Given the description of an element on the screen output the (x, y) to click on. 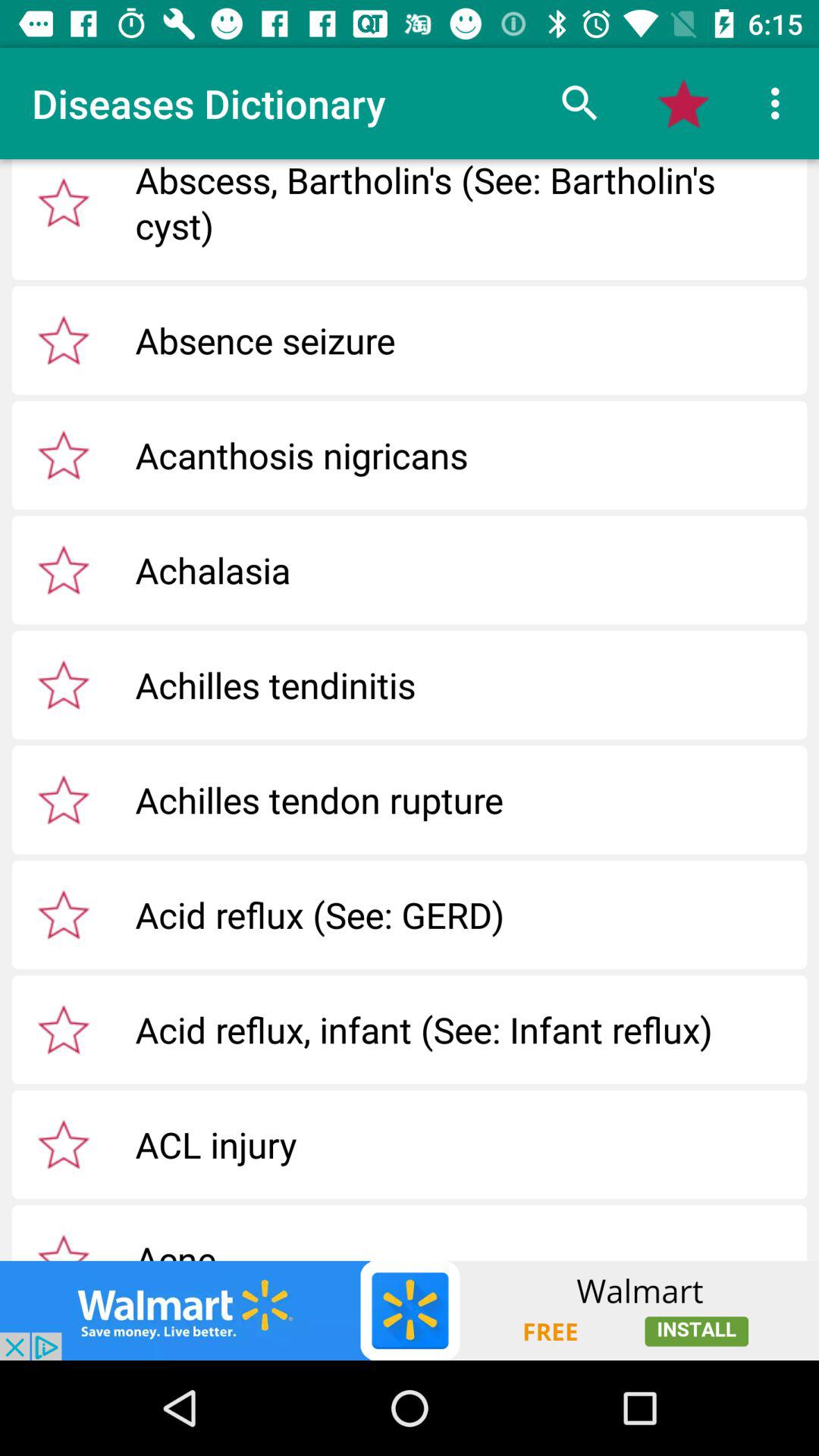
add to favorites (63, 339)
